Given the description of an element on the screen output the (x, y) to click on. 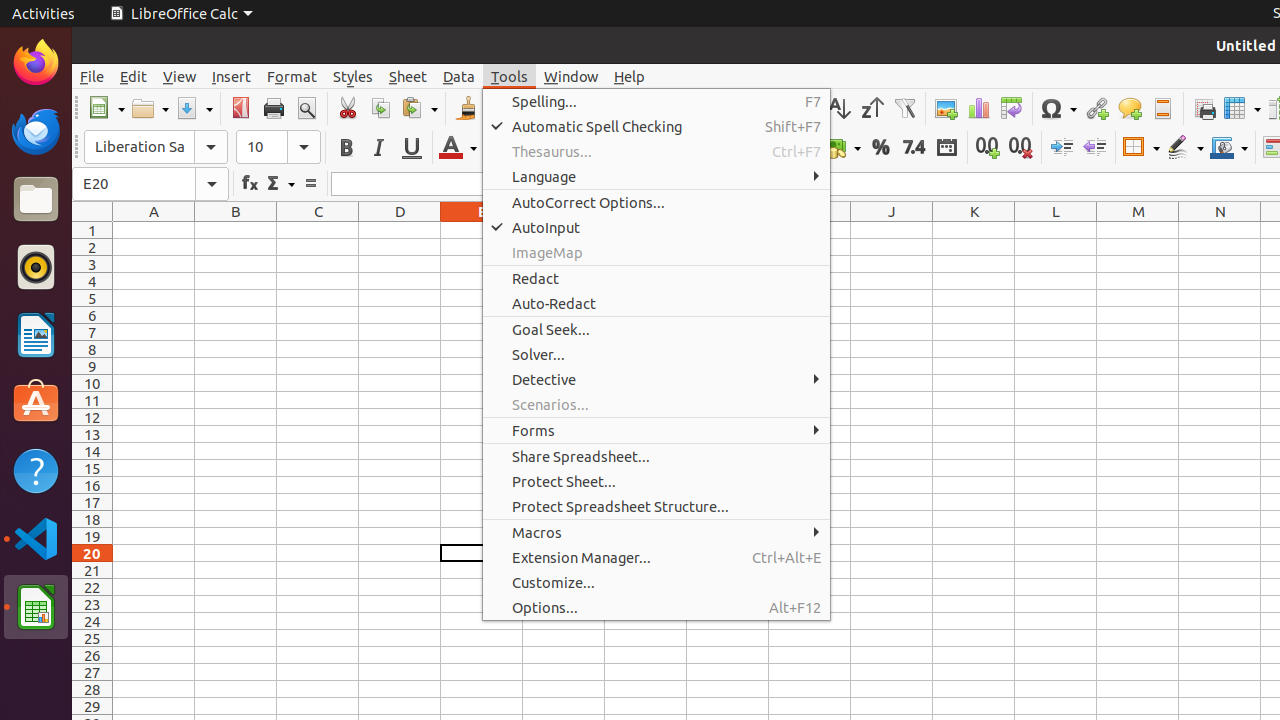
Extension Manager... Element type: menu-item (656, 557)
F1 Element type: table-cell (564, 230)
Delete Decimal Place Element type: push-button (1020, 147)
Ubuntu Software Element type: push-button (36, 402)
Italic Element type: toggle-button (378, 147)
